Given the description of an element on the screen output the (x, y) to click on. 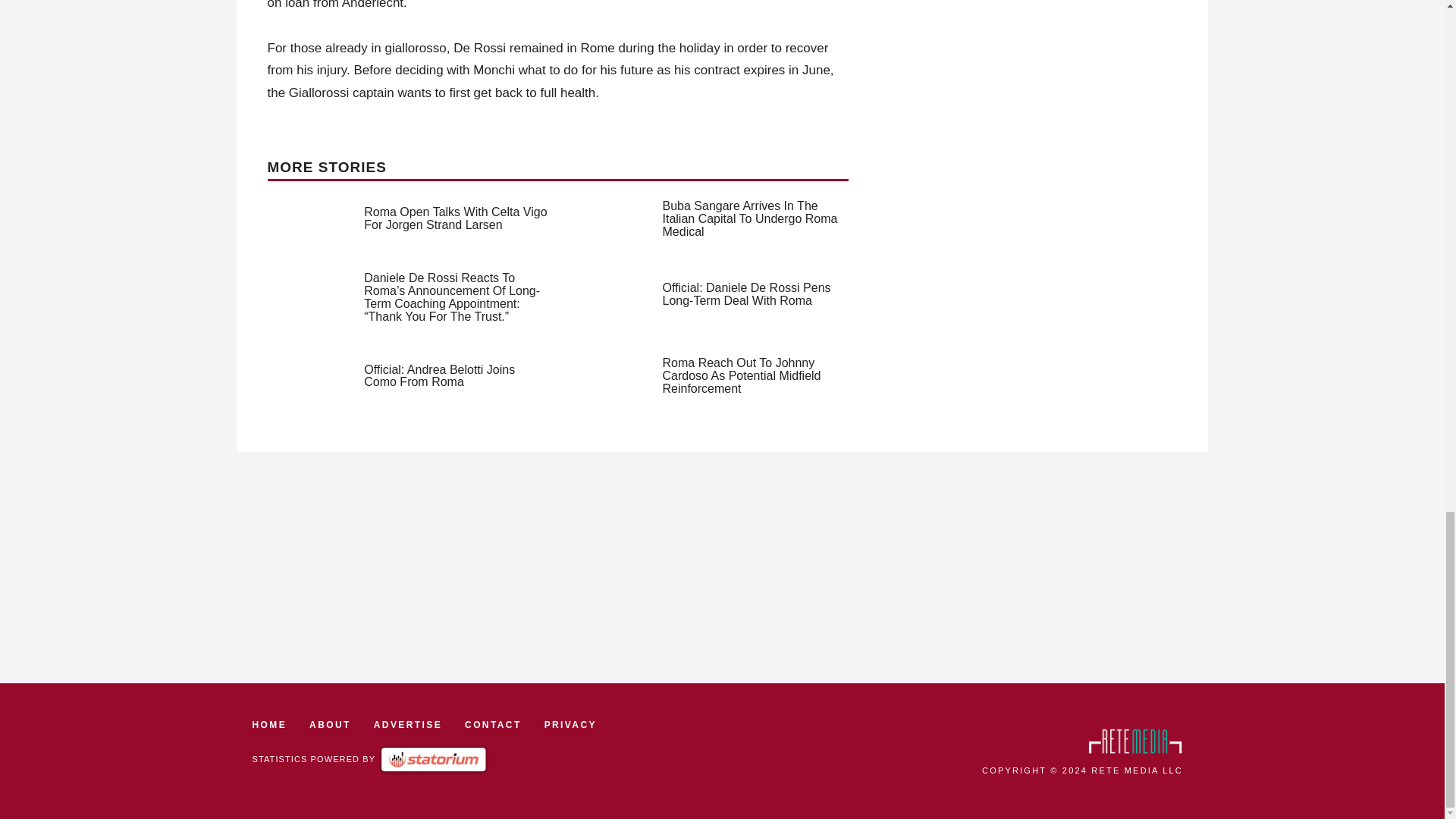
ABOUT (329, 725)
HOME (268, 725)
X (1434, 193)
Official: Andrea Belotti Joins Como From Roma (439, 376)
Roma Open Talks With Celta Vigo For Jorgen Strand Larsen (455, 217)
CONTACT (492, 725)
Official: Daniele De Rossi Pens Long-Term Deal With Roma (746, 294)
PRIVACY (570, 725)
ADVERTISE (408, 725)
